Given the description of an element on the screen output the (x, y) to click on. 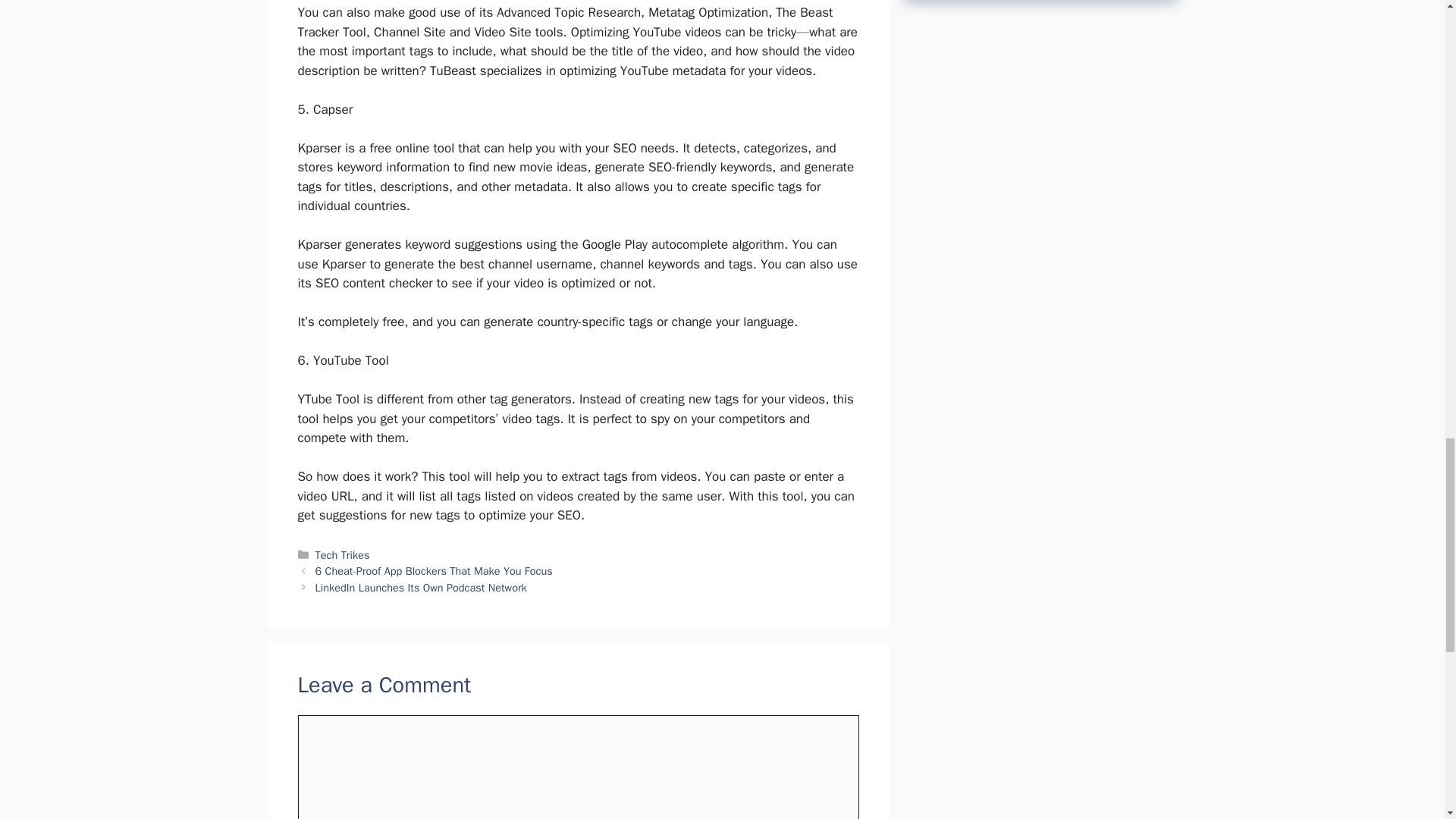
6 Cheat-Proof App Blockers That Make You Focus (434, 571)
LinkedIn Launches Its Own Podcast Network (421, 587)
Tech Trikes (342, 554)
